Given the description of an element on the screen output the (x, y) to click on. 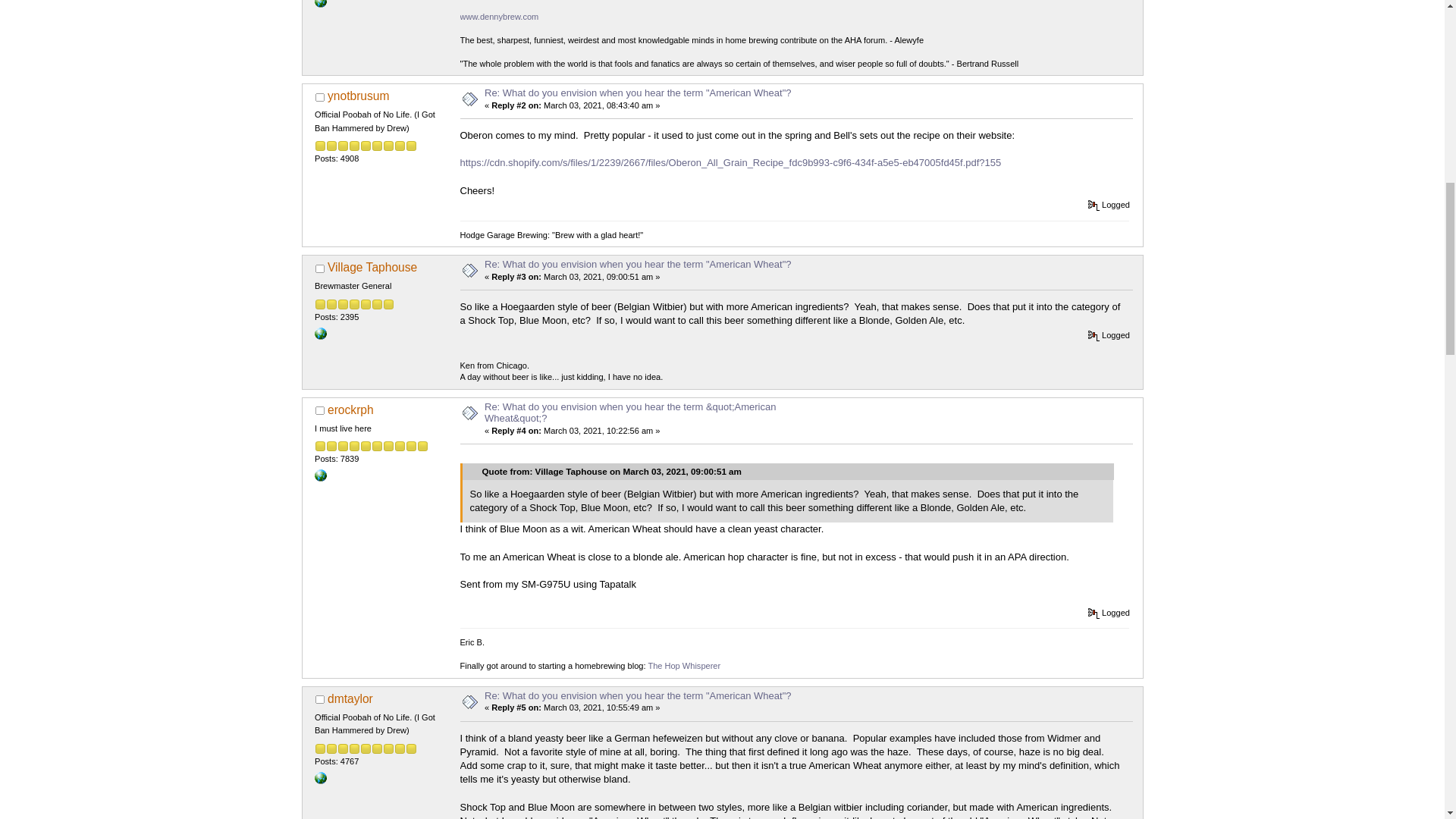
The new Mayfair Court Brewhouse (320, 332)
The Hop WHisperer (320, 474)
www.dennybrew.com (499, 16)
View the profile of erockrph (350, 409)
YEAST MASTER Perma-Living (320, 777)
View the profile of dmtaylor (349, 698)
Dennybrew (320, 2)
ynotbrusum (357, 95)
View the profile of Village Taphouse (371, 267)
View the profile of ynotbrusum (357, 95)
